Given the description of an element on the screen output the (x, y) to click on. 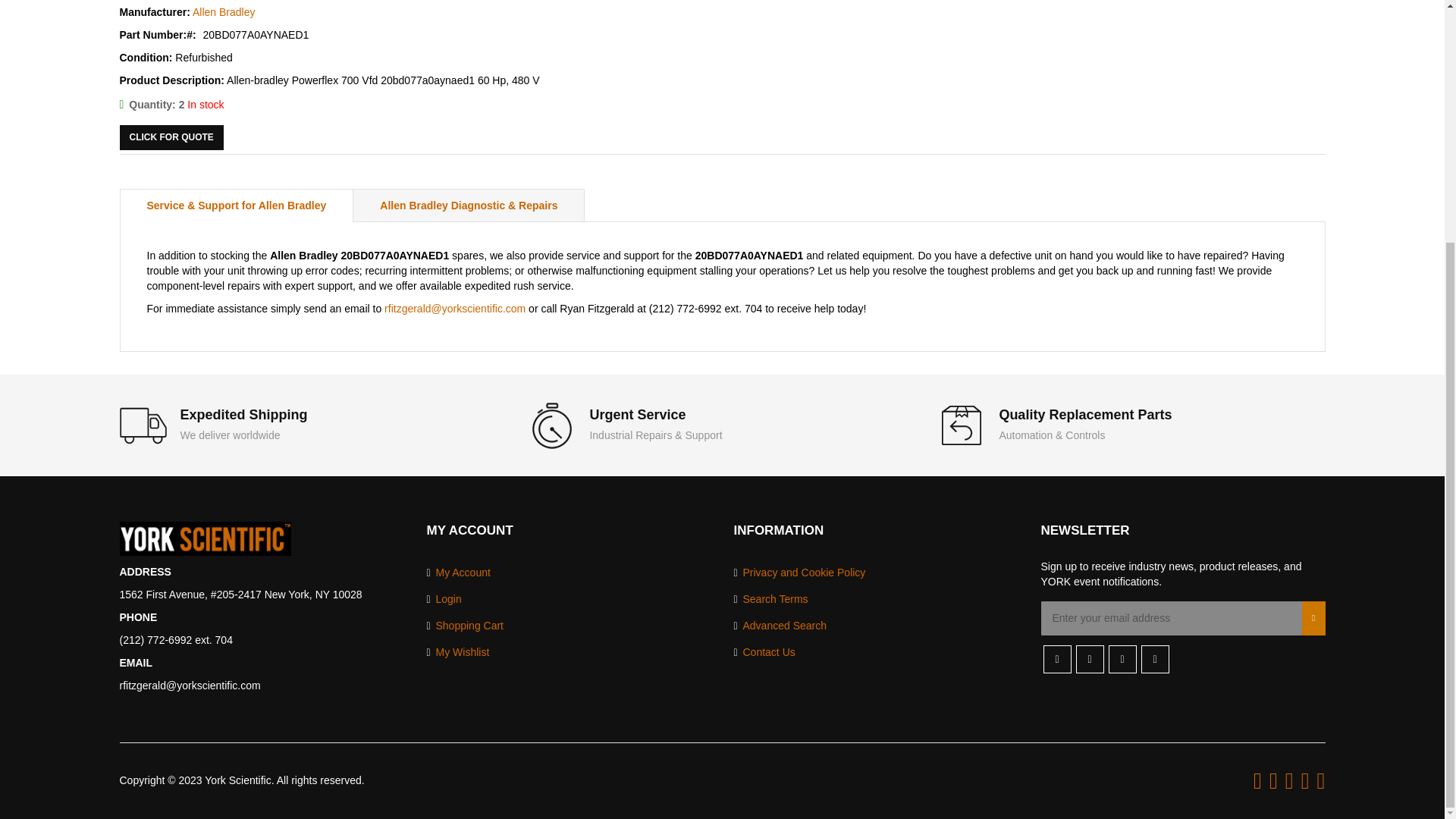
My Wishlist (457, 652)
Allen Bradley (224, 11)
Search Terms (770, 599)
Shopping Cart (464, 625)
Contact Us (763, 652)
Advanced Search (780, 625)
Privacy and Cookie Policy (799, 572)
Availability (171, 104)
Login (443, 599)
My Account (457, 572)
